Given the description of an element on the screen output the (x, y) to click on. 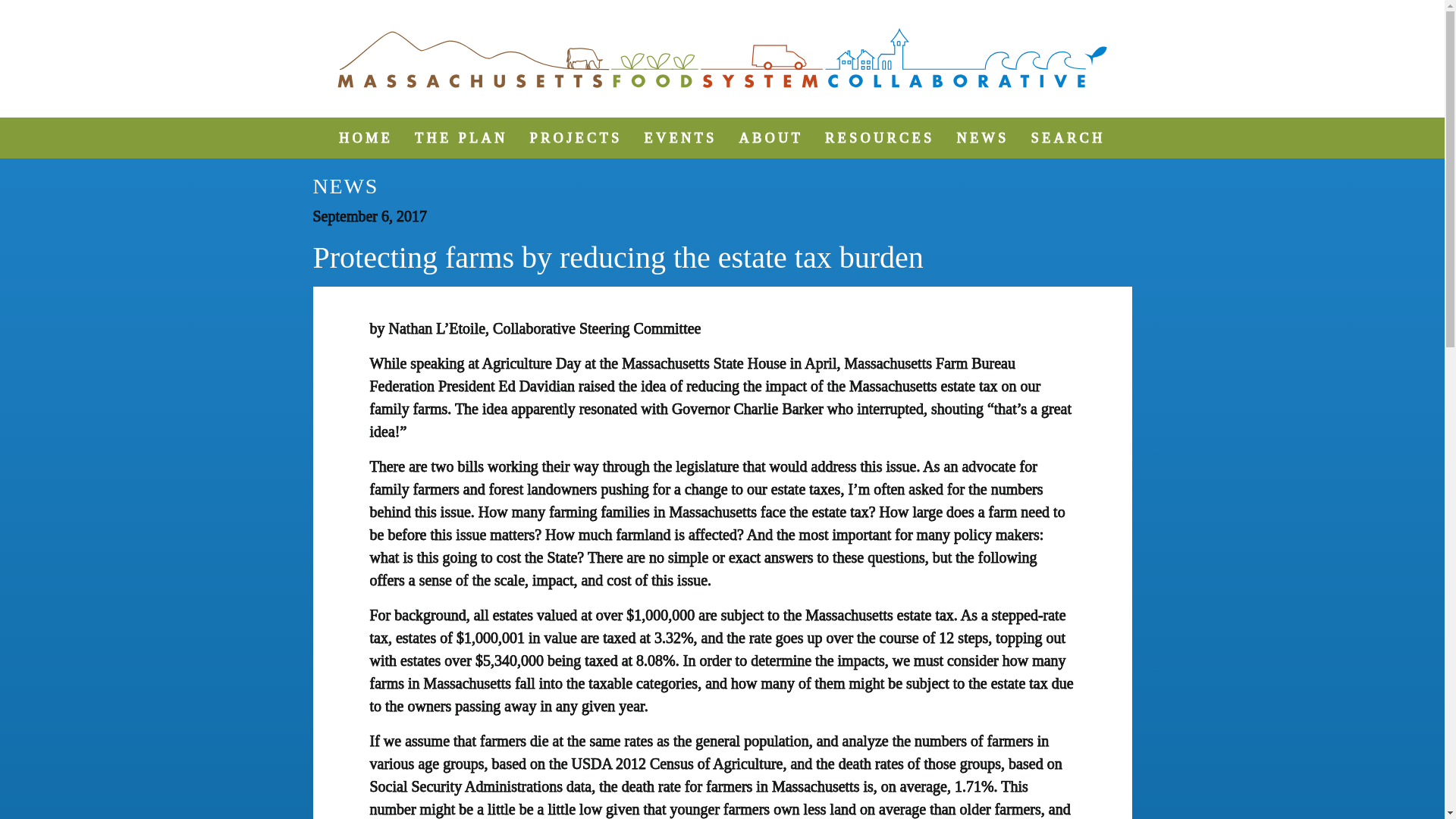
HOME (365, 137)
PROJECTS (576, 137)
ABOUT (771, 137)
NEWS (345, 186)
EVENTS (680, 137)
NEWS (982, 137)
RESOURCES (879, 137)
THE PLAN (461, 137)
SEARCH (1068, 137)
